Given the description of an element on the screen output the (x, y) to click on. 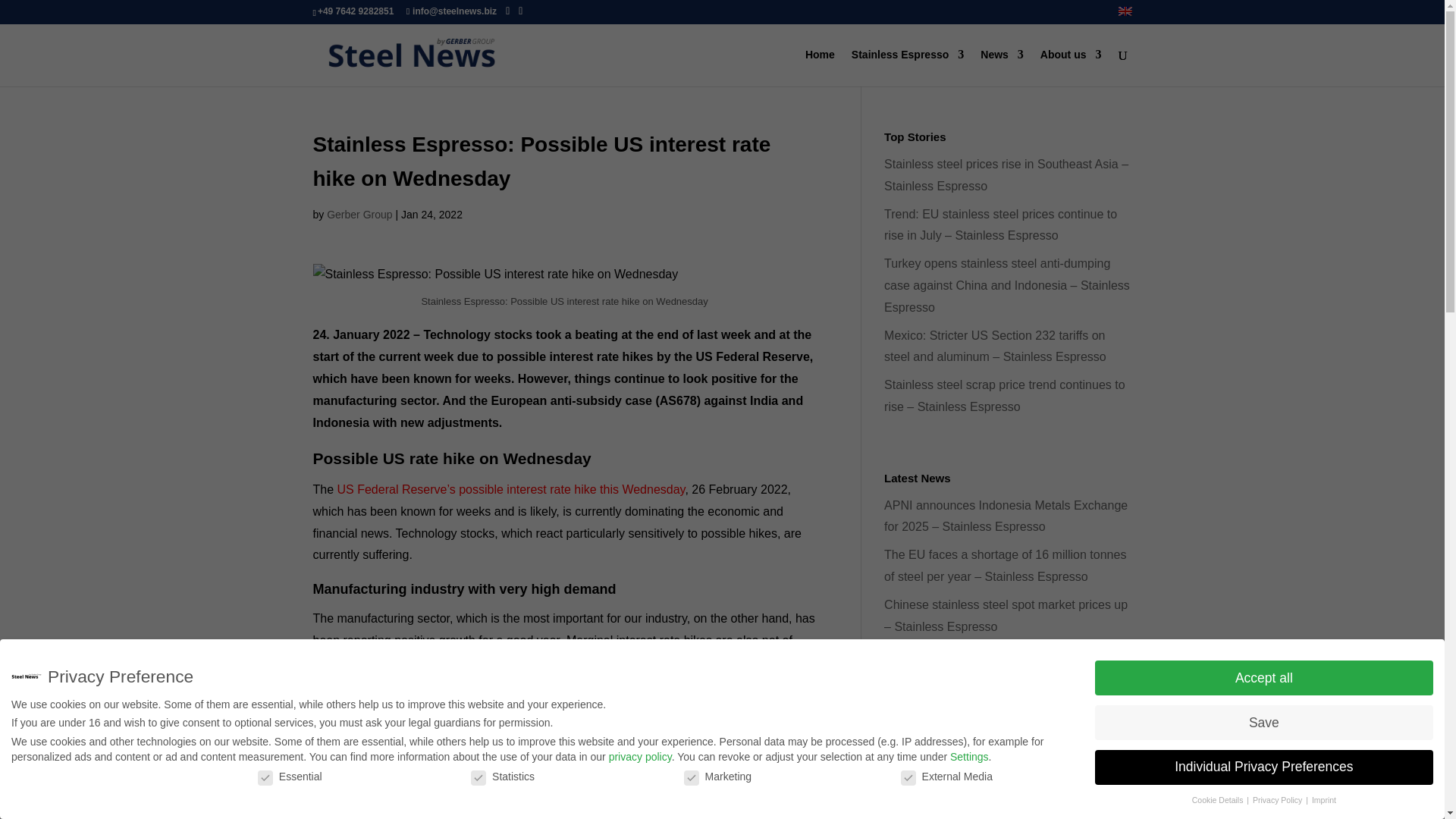
News (1001, 67)
Home (819, 67)
About us (1071, 67)
Stainless Espresso (907, 67)
Posts by Gerber Group (358, 214)
Gerber Group (358, 214)
